Given the description of an element on the screen output the (x, y) to click on. 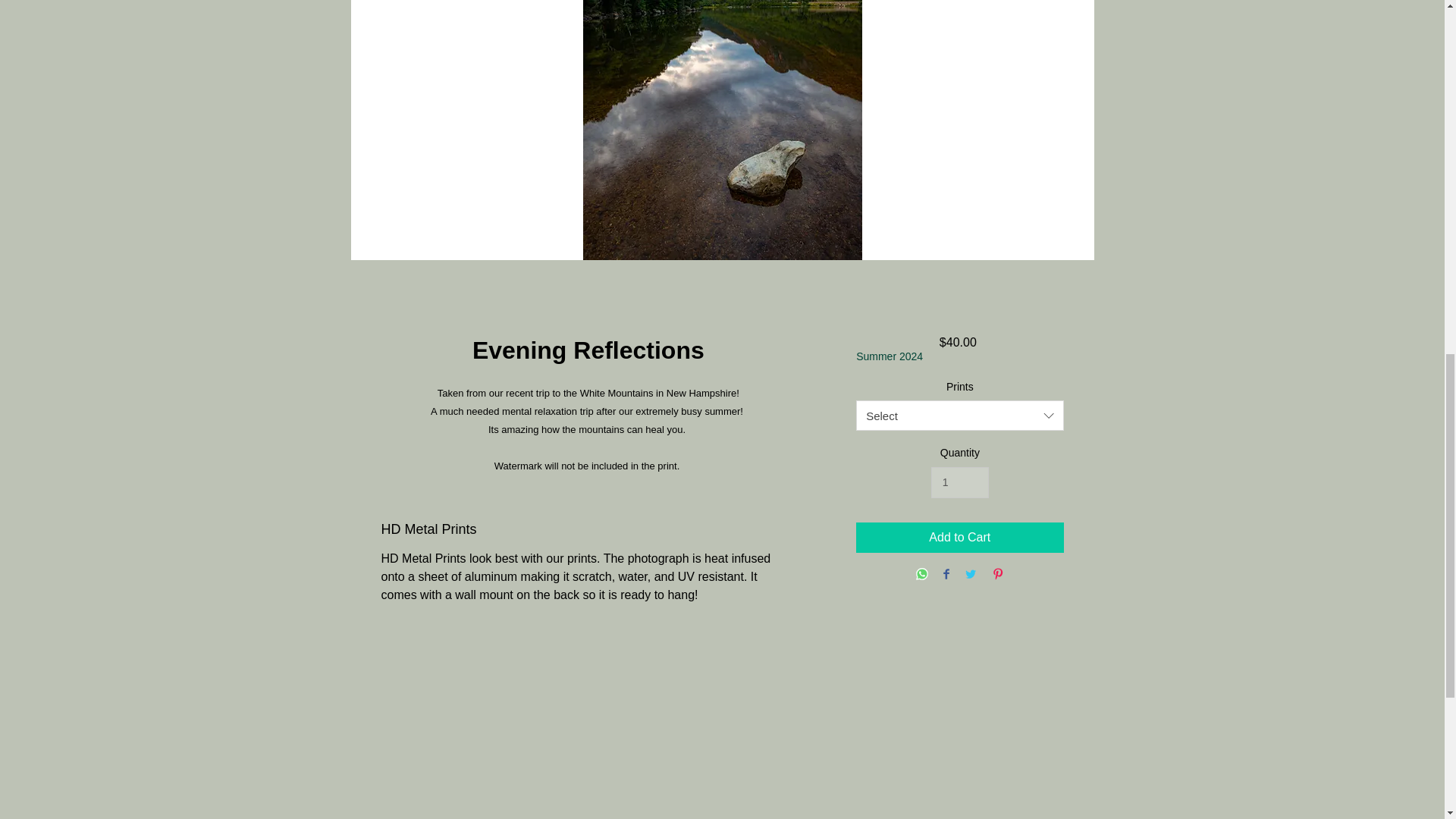
Select (959, 415)
Add to Cart (959, 537)
1 (959, 481)
